Given the description of an element on the screen output the (x, y) to click on. 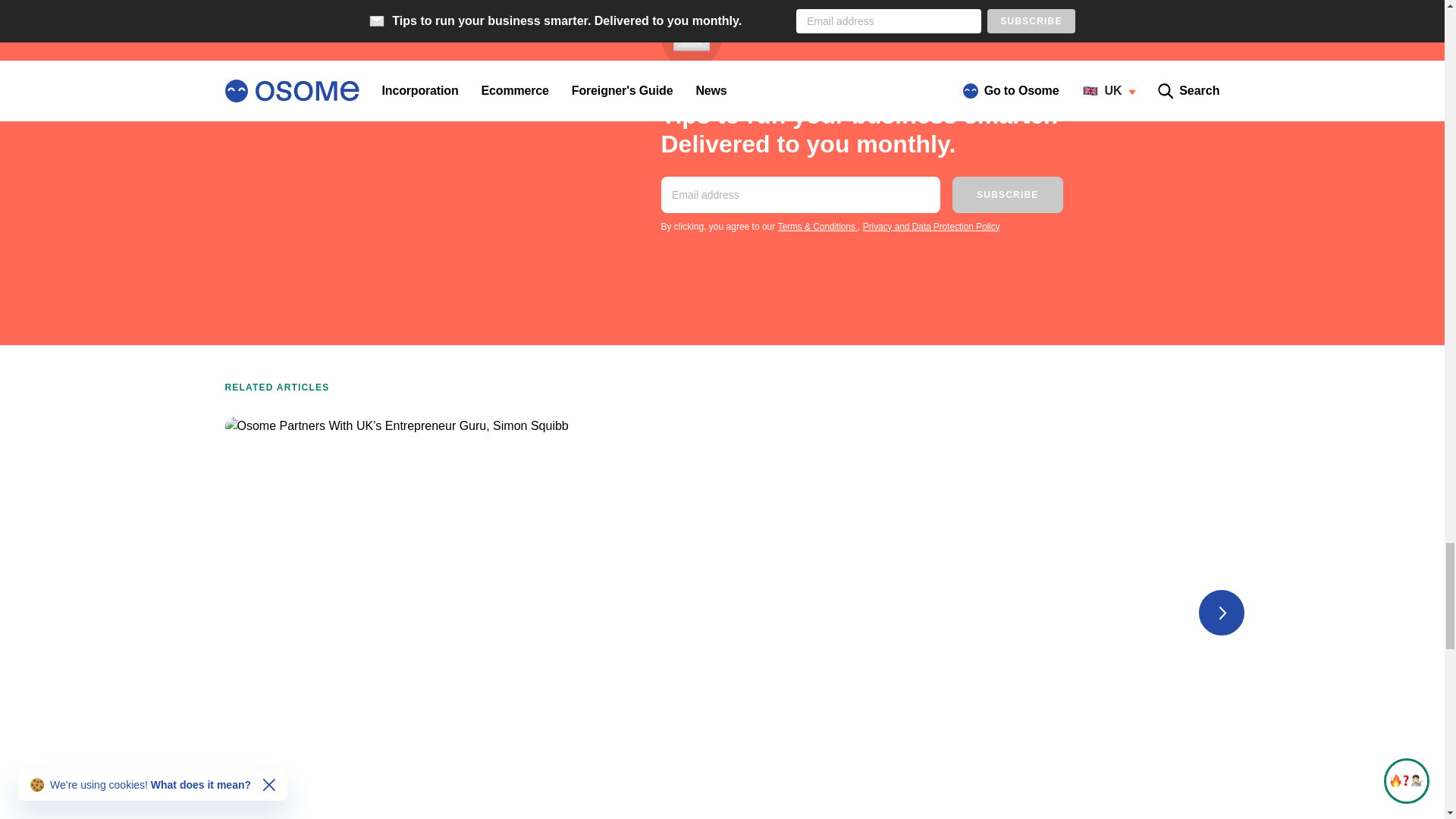
SUBSCRIBE (1007, 194)
Privacy and Data Protection Policy (931, 226)
next (1220, 612)
